Given the description of an element on the screen output the (x, y) to click on. 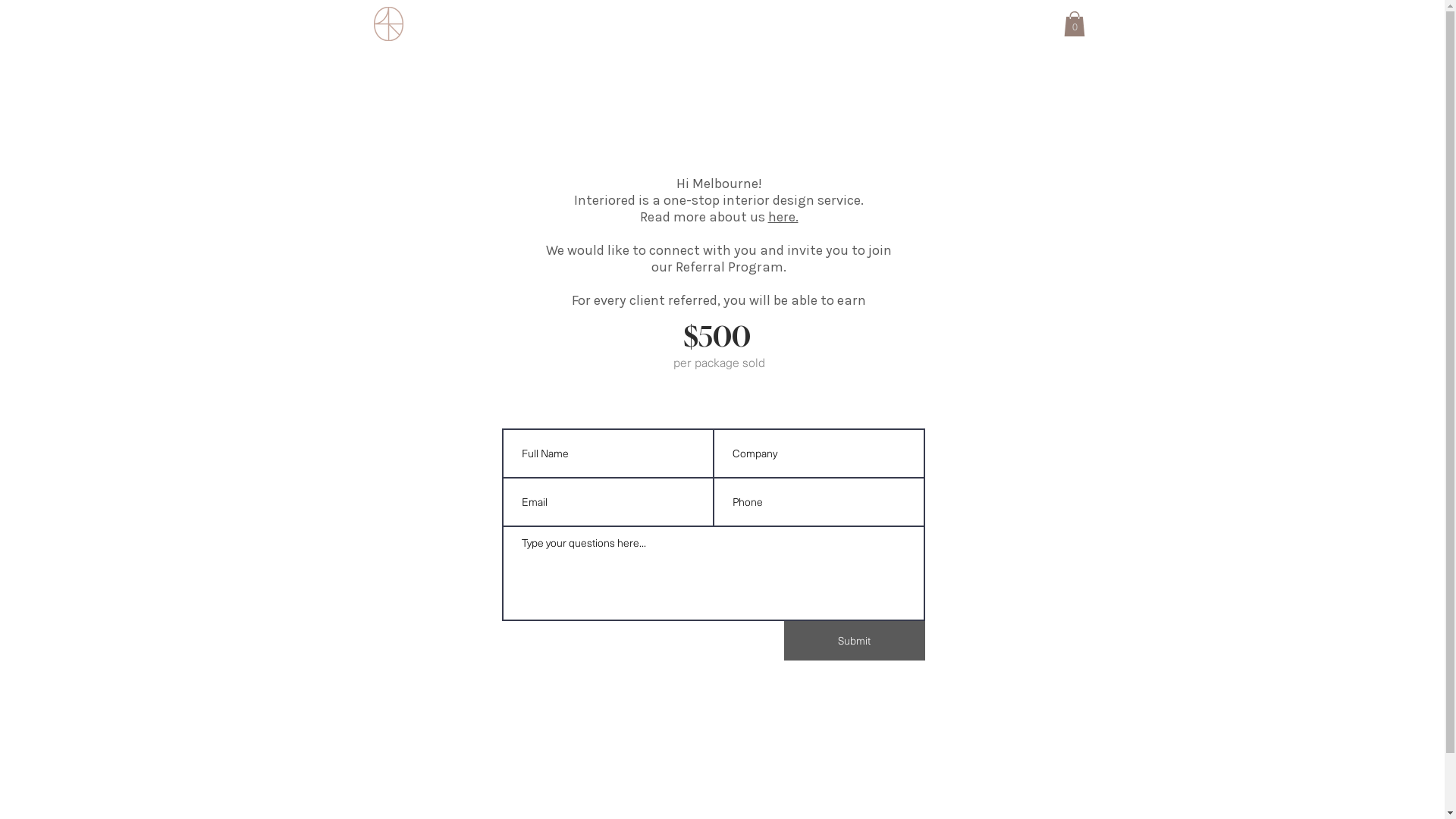
here. Element type: text (782, 216)
Submit Element type: text (854, 640)
0 Element type: text (1073, 23)
